Given the description of an element on the screen output the (x, y) to click on. 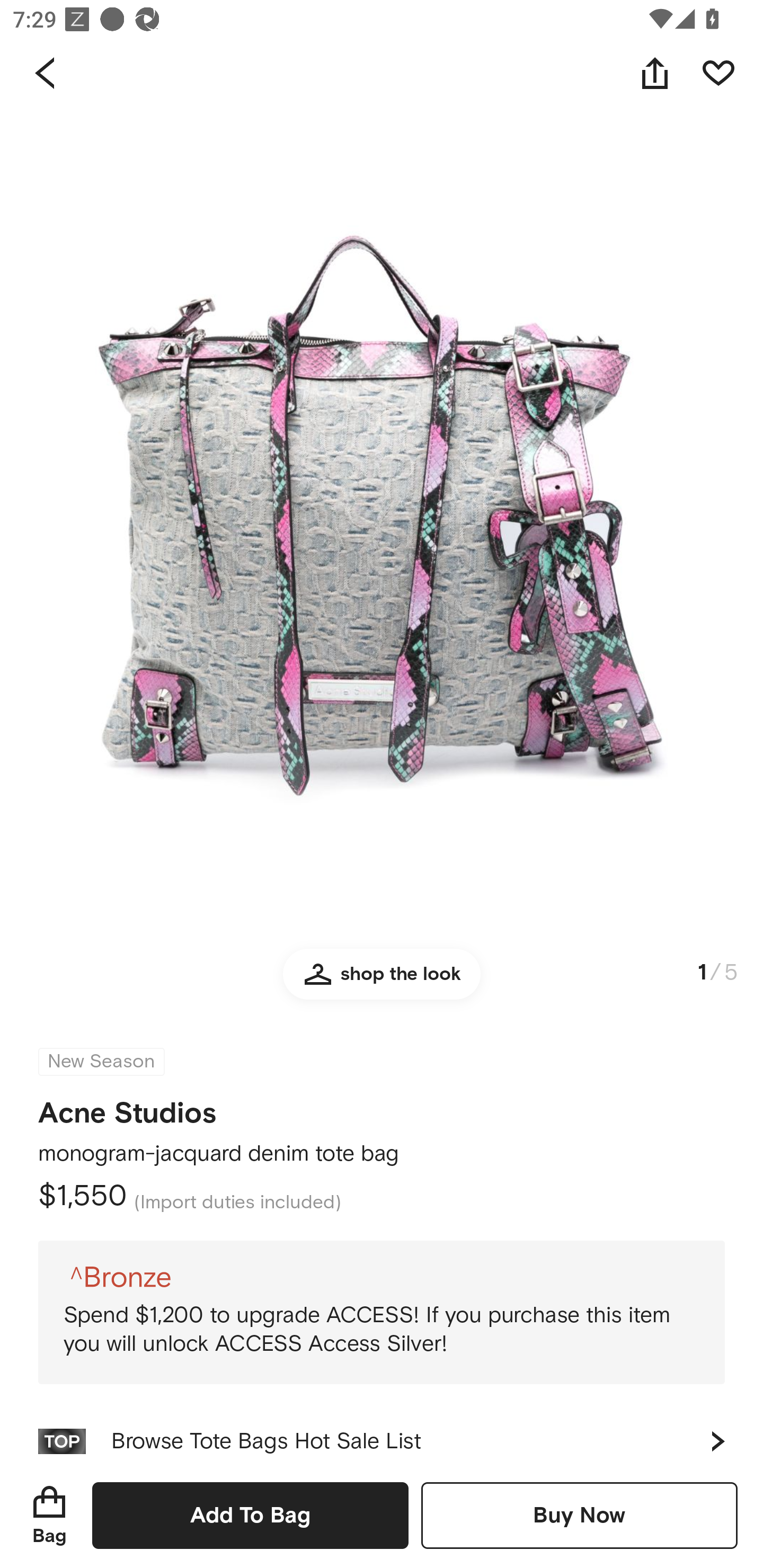
shop the look (381, 982)
Acne Studios (126, 1107)
Browse Tote Bags Hot Sale List (381, 1432)
Bag (49, 1515)
Add To Bag (250, 1515)
Buy Now (579, 1515)
